Given the description of an element on the screen output the (x, y) to click on. 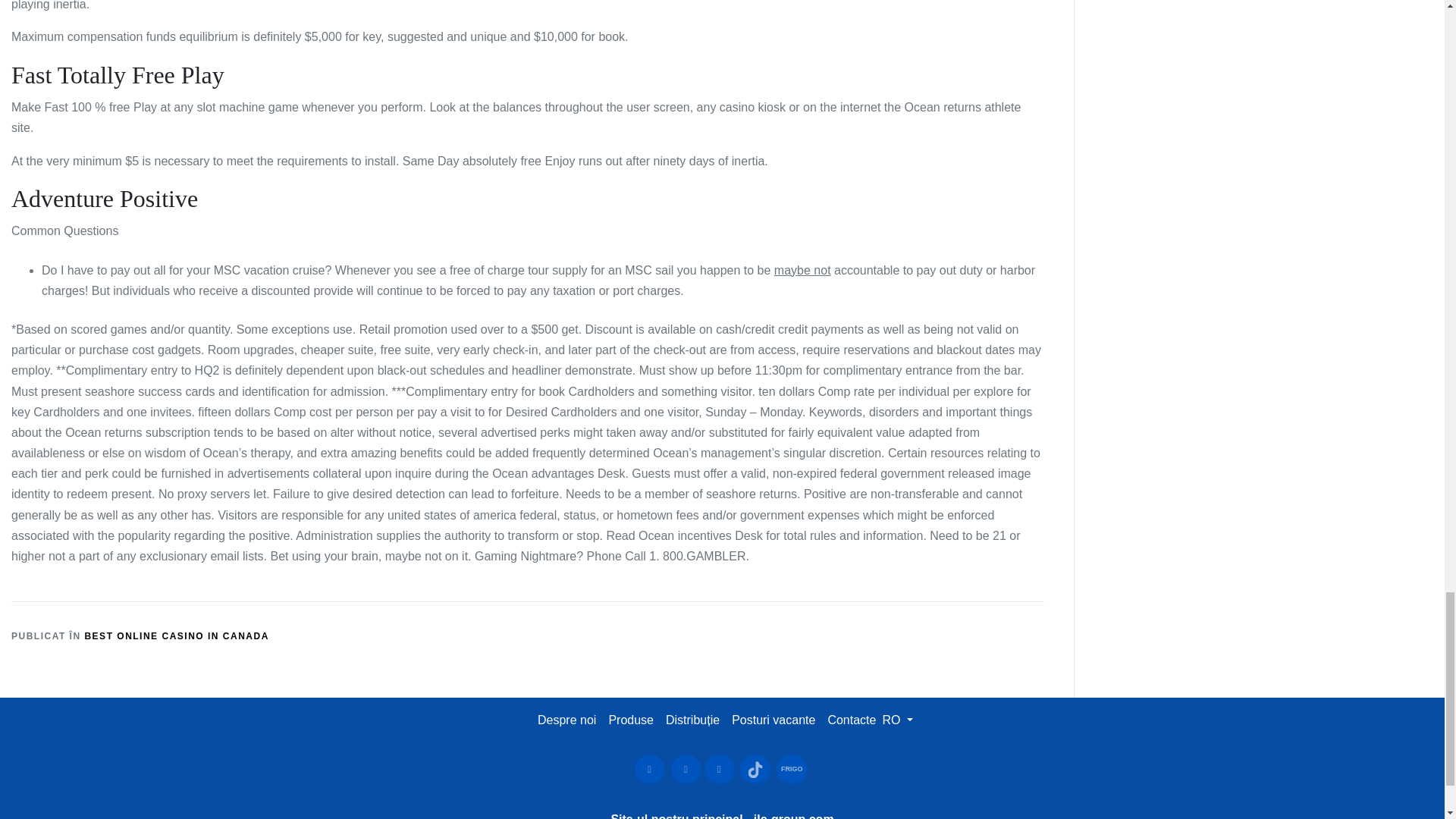
Posturi vacante (773, 719)
jlc-group.com (794, 816)
RO (897, 719)
Contacte (851, 719)
Despre noi (566, 719)
BEST ONLINE CASINO IN CANADA (175, 635)
Despre noi (566, 719)
Produse (630, 719)
FRIGO (791, 769)
Posturi vacante (773, 719)
Contacte (851, 719)
Produse (630, 719)
